Given the description of an element on the screen output the (x, y) to click on. 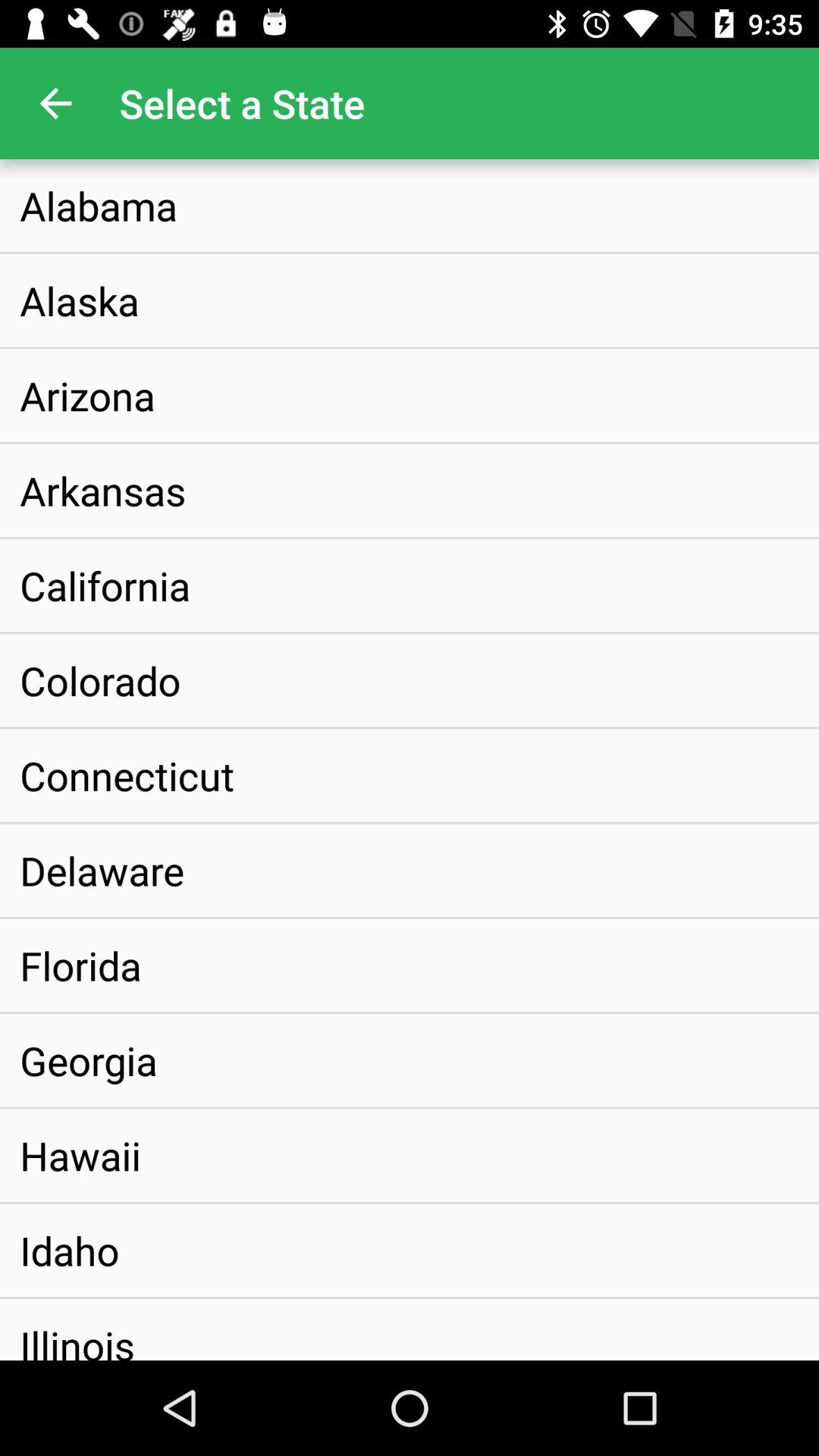
turn on california item (105, 585)
